Given the description of an element on the screen output the (x, y) to click on. 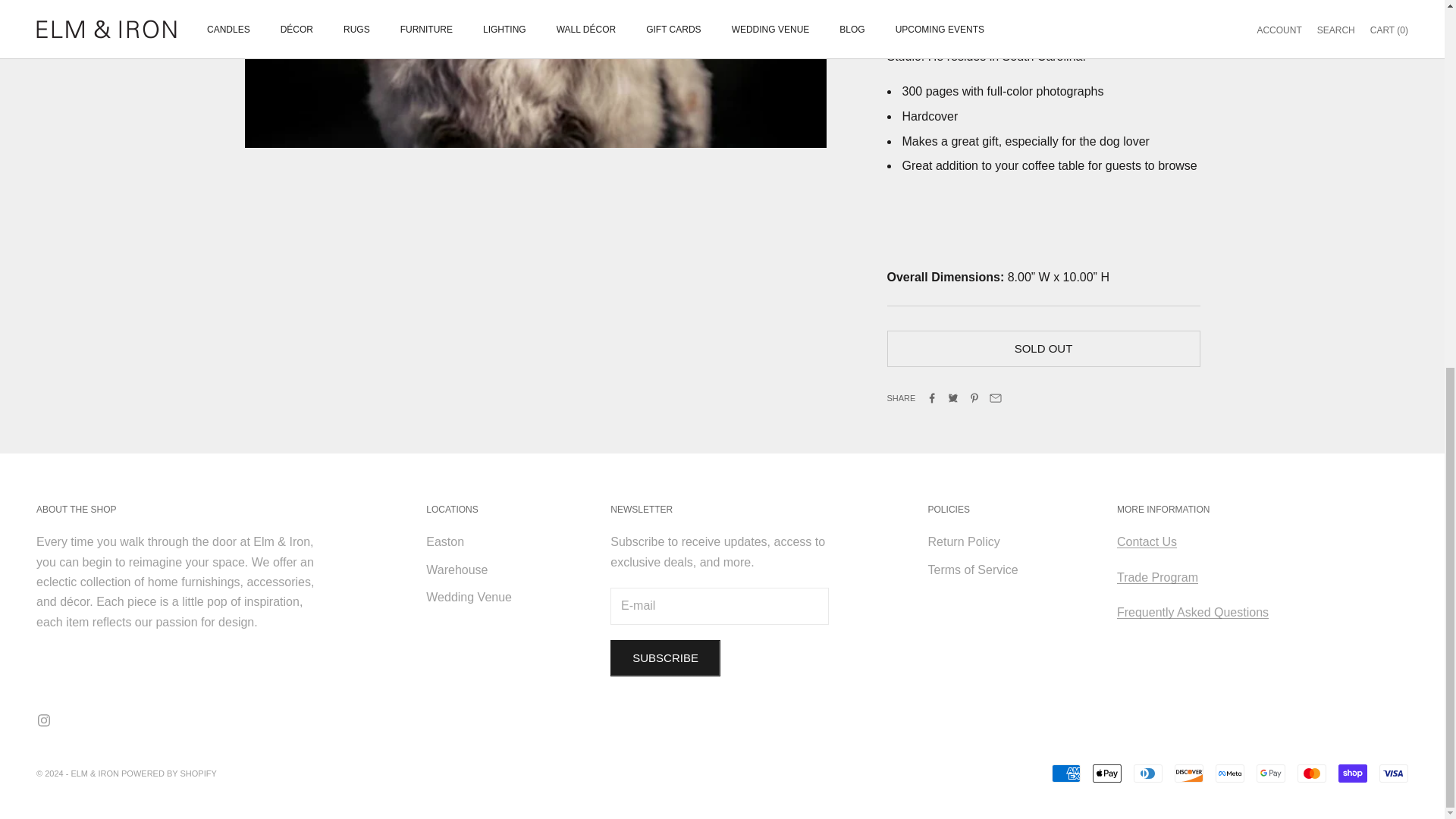
Contact Us (1146, 541)
FAQs (1192, 612)
